Given the description of an element on the screen output the (x, y) to click on. 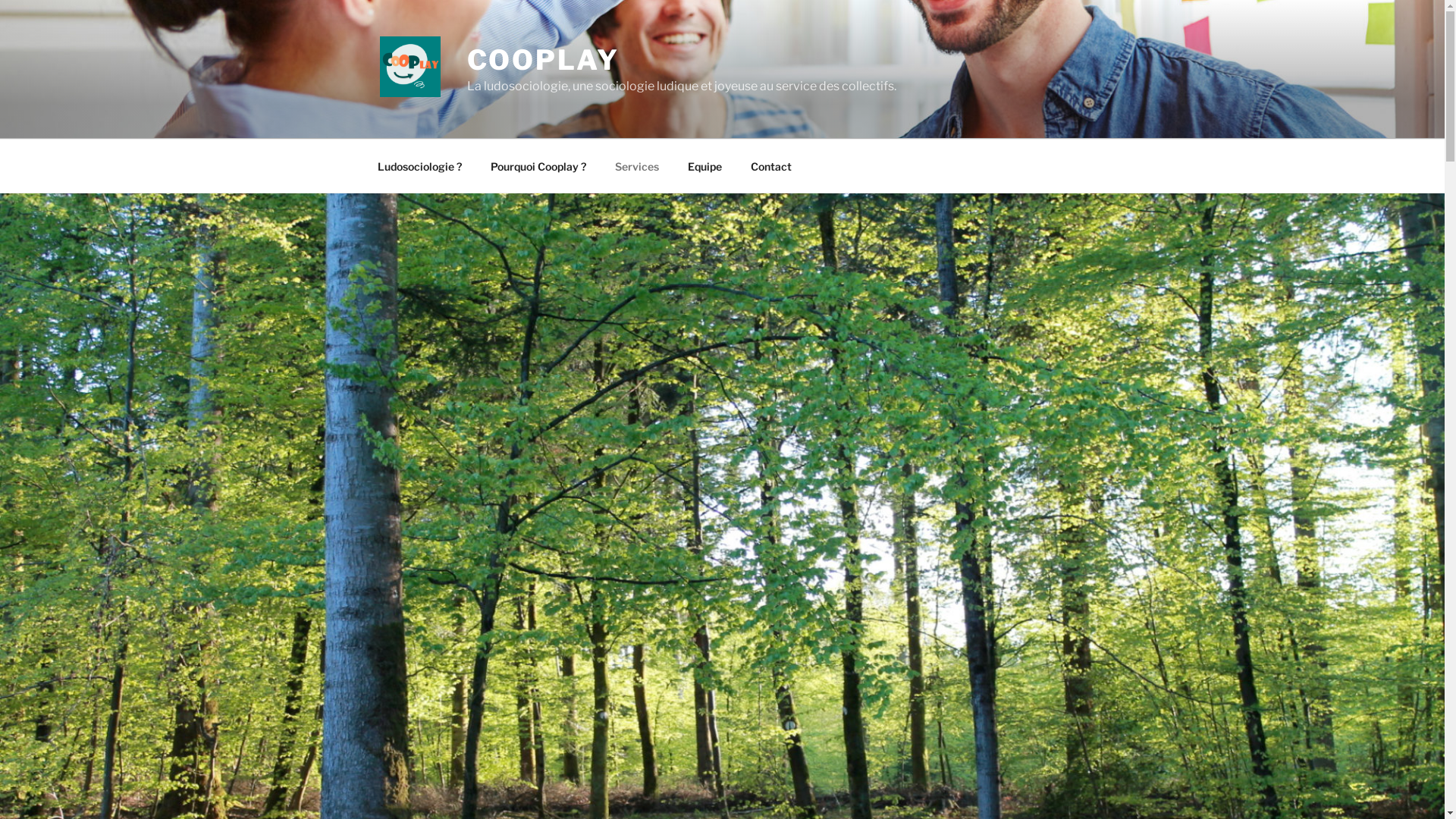
Pourquoi Cooplay ? Element type: text (538, 165)
Services Element type: text (637, 165)
Contact Element type: text (770, 165)
Equipe Element type: text (704, 165)
COOPLAY Element type: text (543, 59)
Ludosociologie ? Element type: text (419, 165)
